Given the description of an element on the screen output the (x, y) to click on. 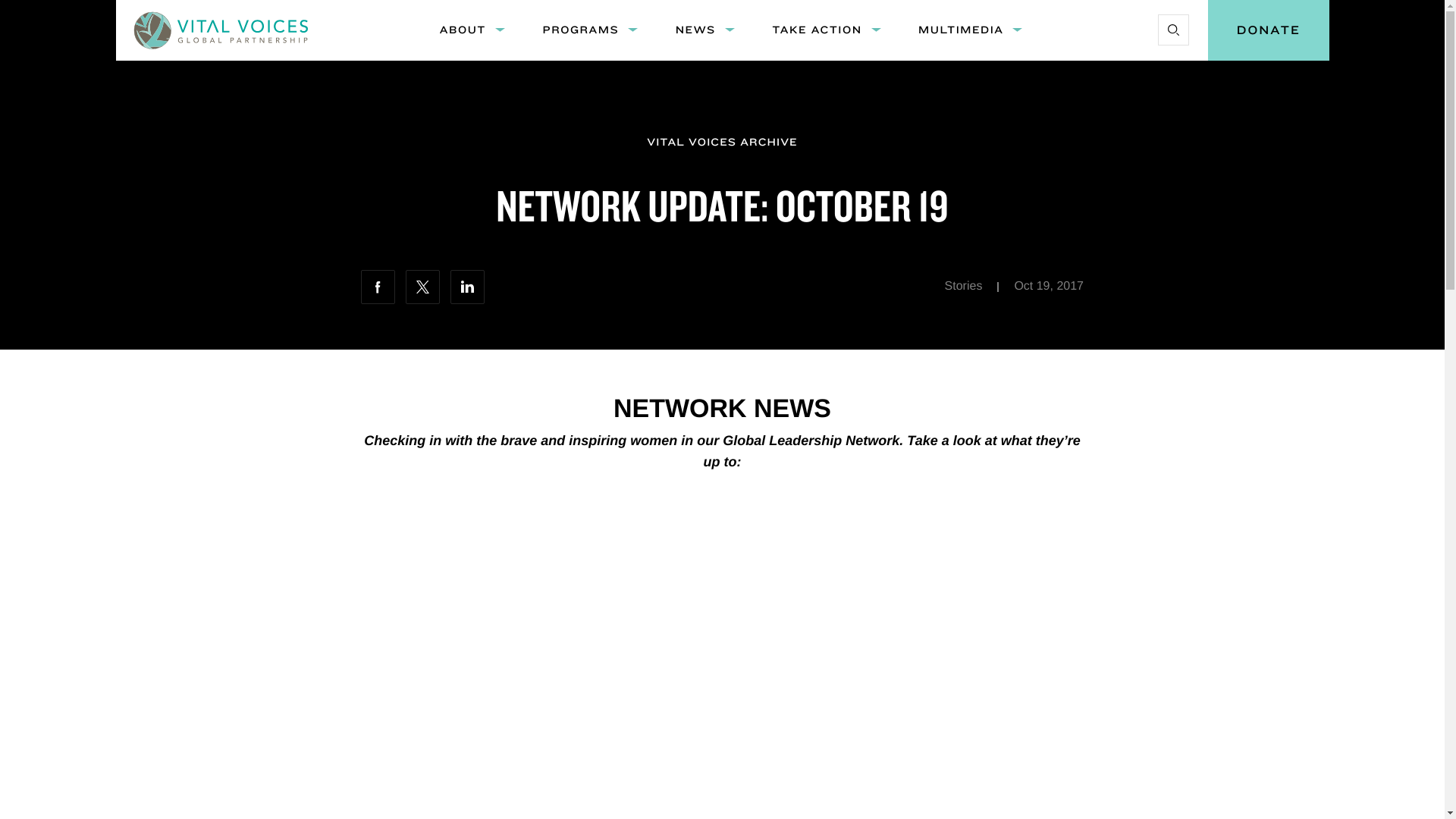
Start Searching Vital Voices (1172, 29)
ABOUT (462, 29)
PROGRAMS (579, 29)
MULTIMEDIA (959, 29)
NEWS (694, 29)
TAKE ACTION (816, 29)
